Given the description of an element on the screen output the (x, y) to click on. 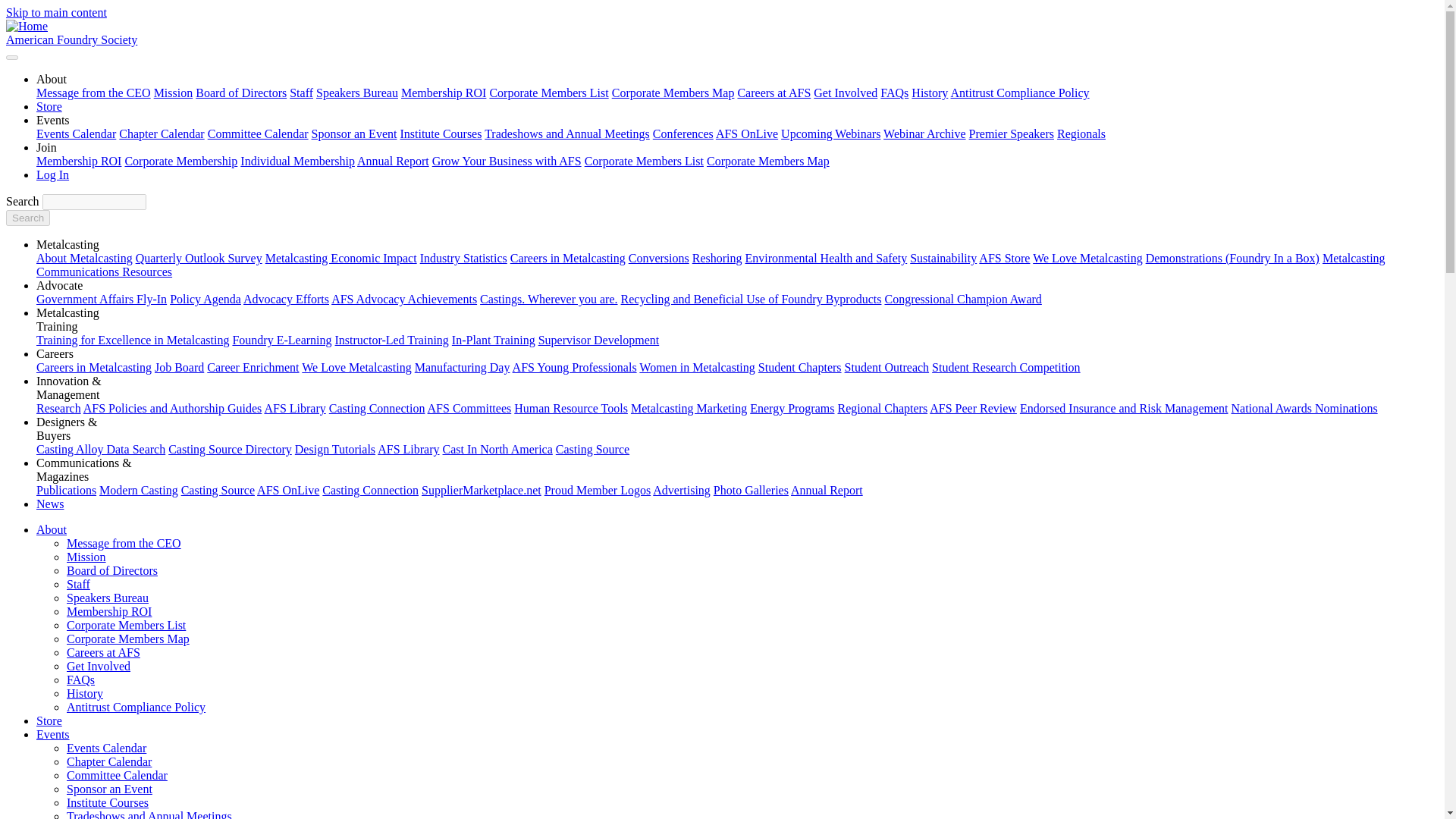
Careers at AFS (773, 92)
Membership ROI (78, 160)
Regionals (1081, 133)
Webinar Archive (924, 133)
FAQs (894, 92)
Corporate Members Map (767, 160)
Tradeshows and Annual Meetings (566, 133)
American Foundry Society (70, 39)
Corporate Members List (548, 92)
Sponsor an Event (354, 133)
Get Involved (845, 92)
Corporate Members Map (673, 92)
Grow Your Business with AFS (506, 160)
Annual Report (392, 160)
Upcoming Webinars (830, 133)
